Given the description of an element on the screen output the (x, y) to click on. 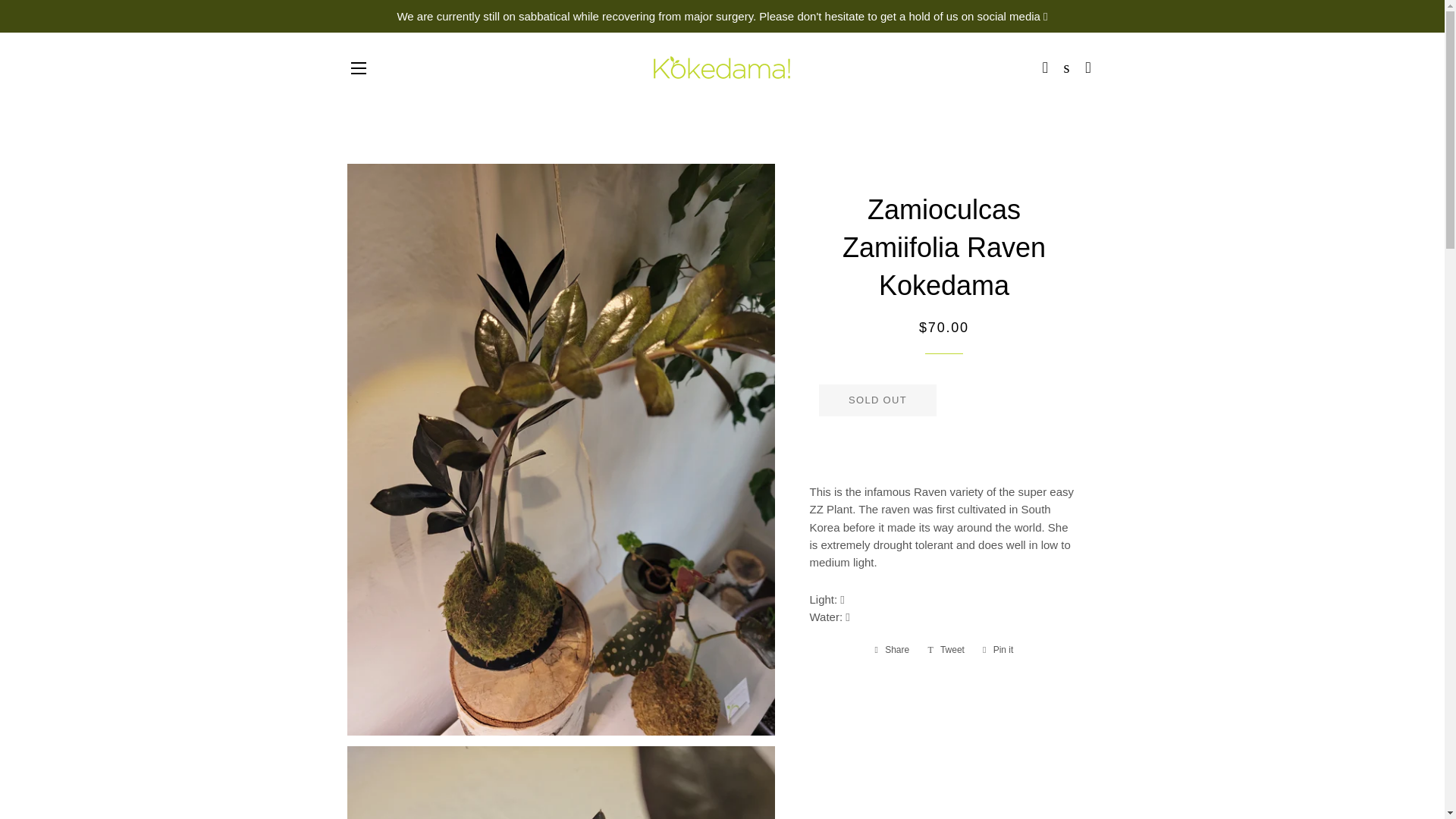
Pin on Pinterest (946, 649)
SOLD OUT (997, 649)
Tweet on Twitter (877, 400)
SITE NAVIGATION (946, 649)
Share on Facebook (358, 67)
